Given the description of an element on the screen output the (x, y) to click on. 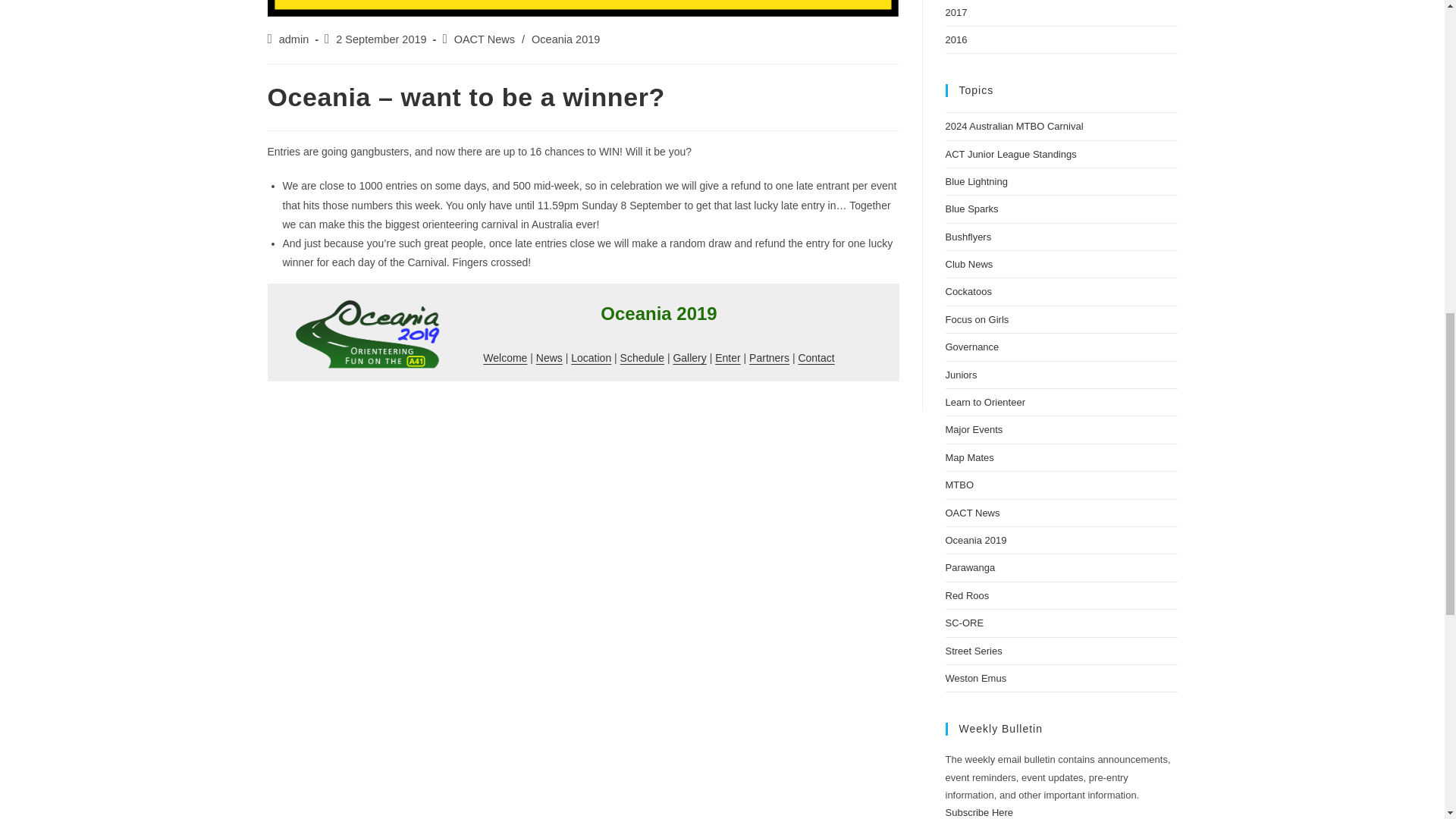
Posts by admin (293, 39)
